Given the description of an element on the screen output the (x, y) to click on. 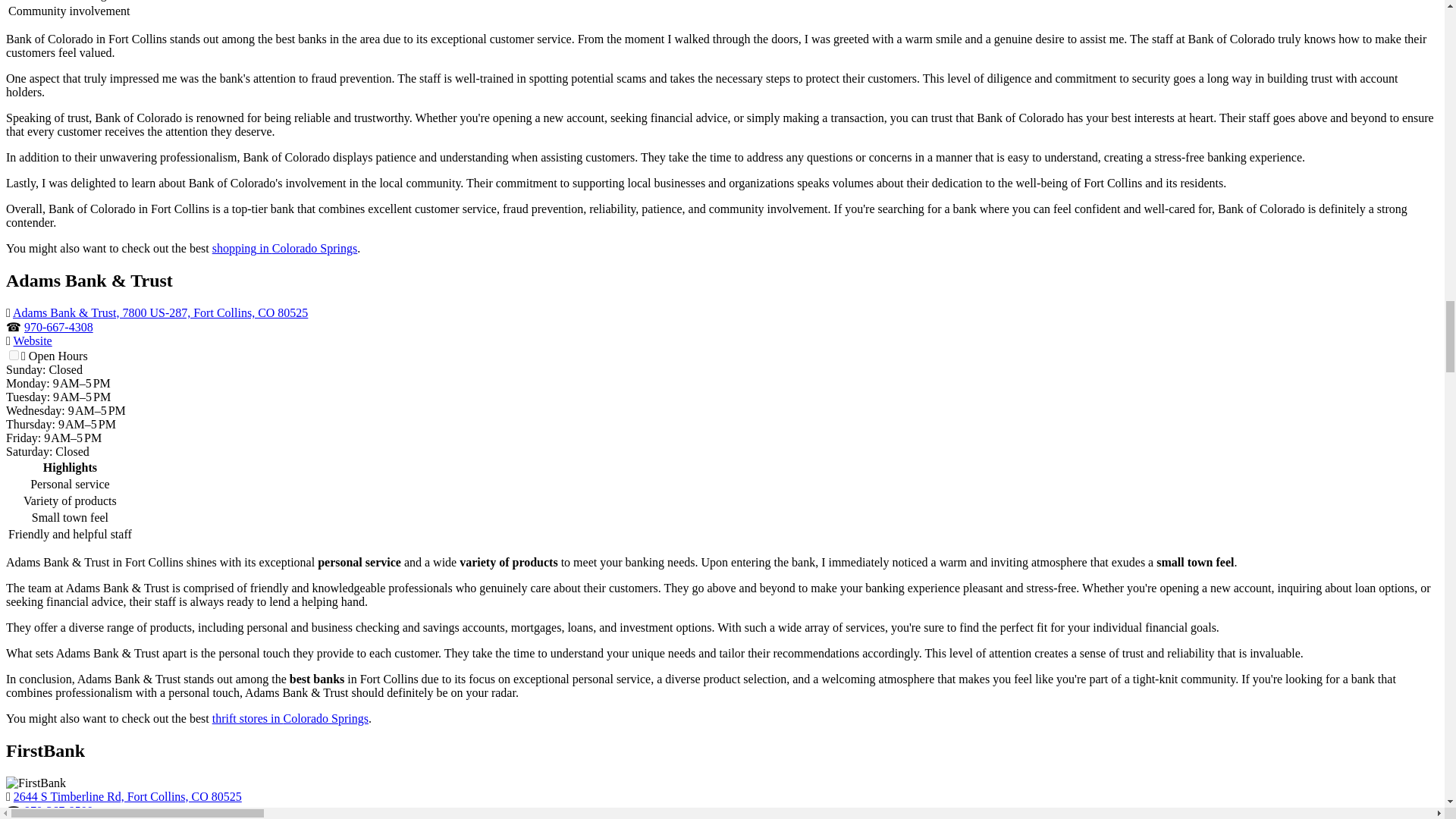
on (13, 355)
